Given the description of an element on the screen output the (x, y) to click on. 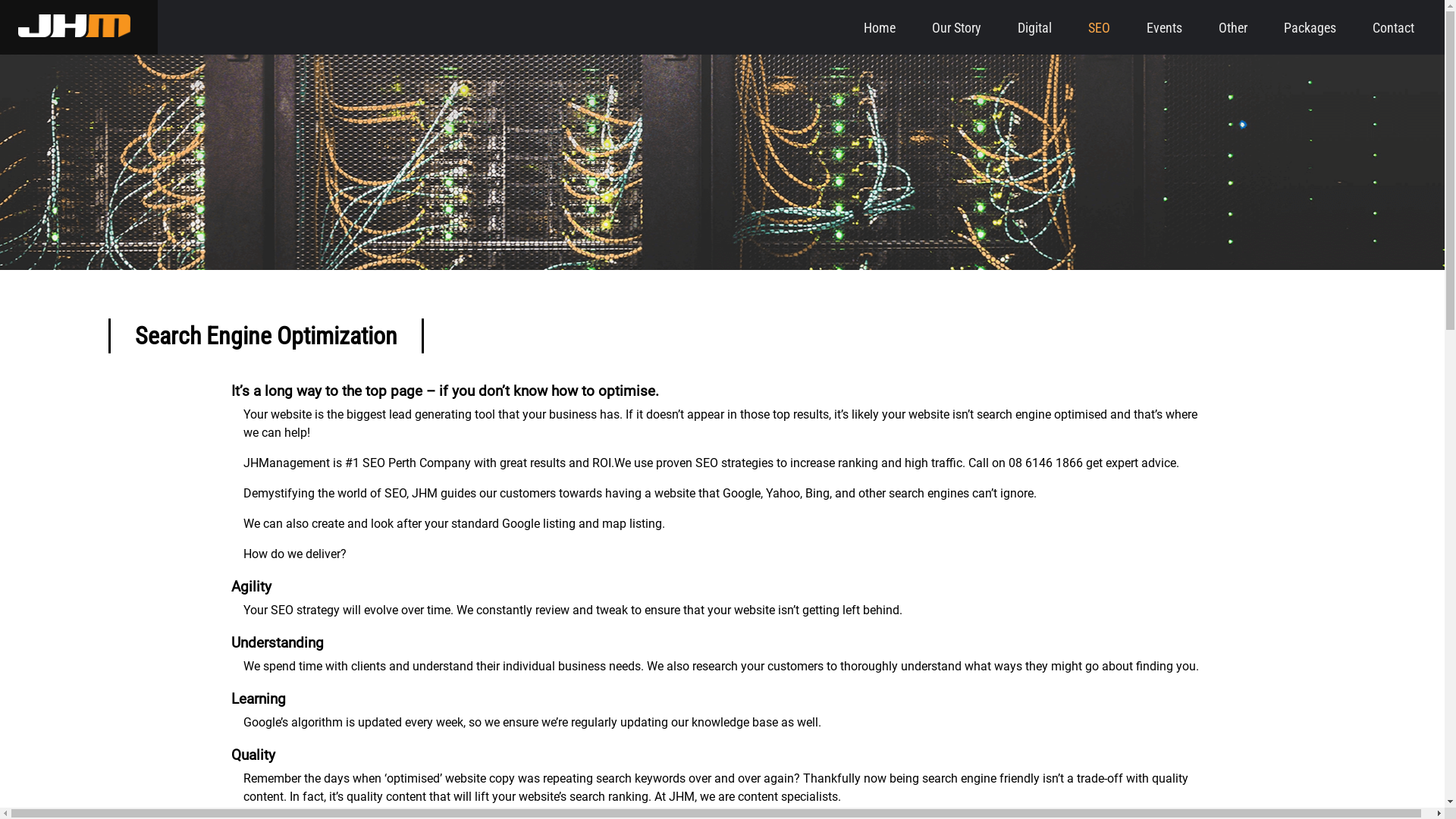
Digital Element type: text (1034, 27)
Events Element type: text (1164, 27)
Contact Element type: text (1393, 27)
Our Story Element type: text (956, 27)
Packages Element type: text (1309, 27)
SEO Element type: text (1099, 27)
Other Element type: text (1232, 27)
Home Element type: text (879, 27)
